Given the description of an element on the screen output the (x, y) to click on. 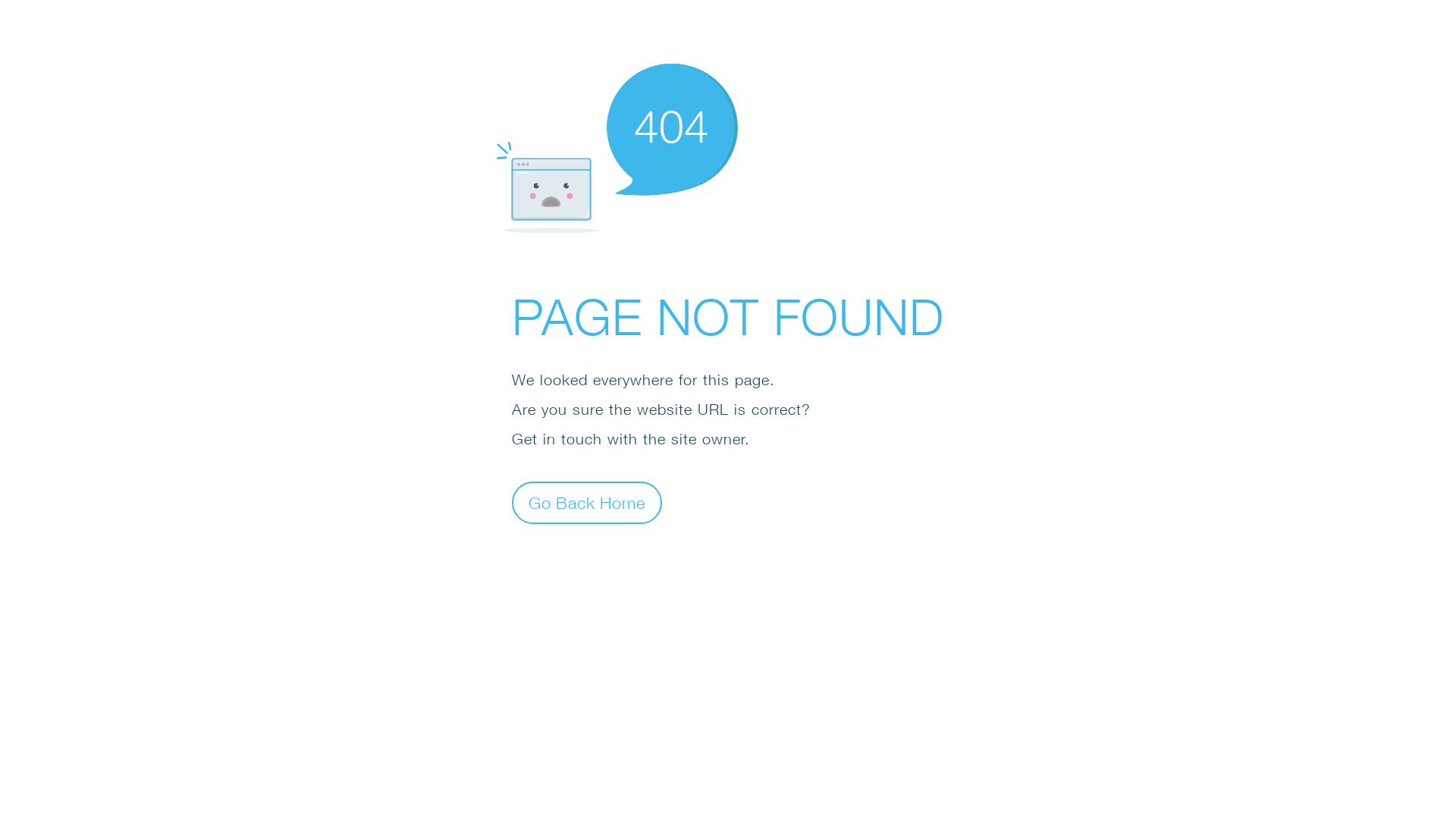
Go Back Home Element type: text (586, 502)
